Given the description of an element on the screen output the (x, y) to click on. 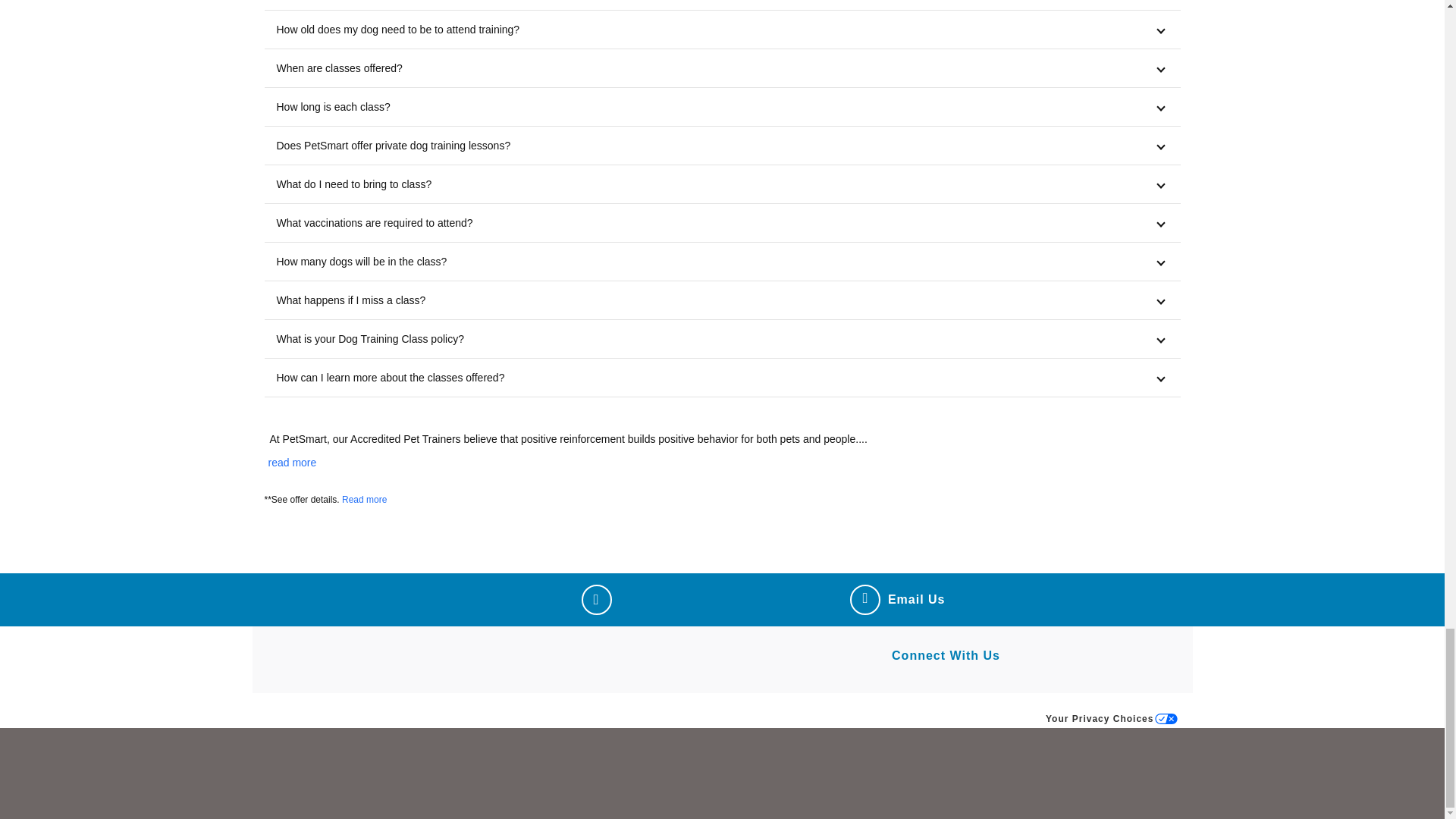
Read more (364, 499)
read more (291, 462)
Email Us (897, 599)
Your Privacy Choices (1111, 718)
